Given the description of an element on the screen output the (x, y) to click on. 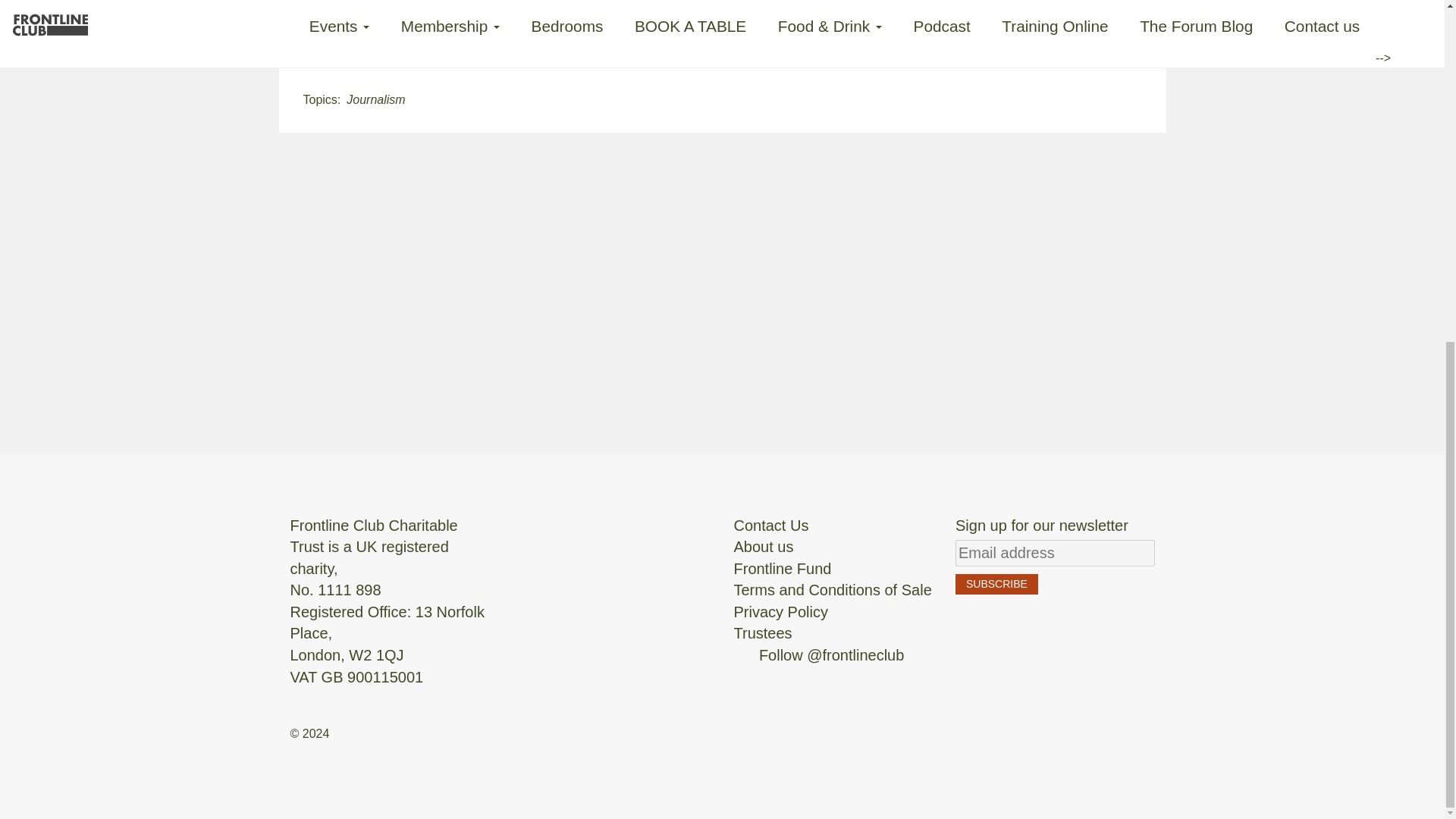
Trustees (762, 632)
Terms and Conditions of Sale (832, 589)
Frontline Fund (782, 568)
Journalism (375, 99)
link (542, 25)
Subscribe (996, 584)
Privacy Policy (780, 611)
Contact Us (771, 524)
About us (763, 546)
